Given the description of an element on the screen output the (x, y) to click on. 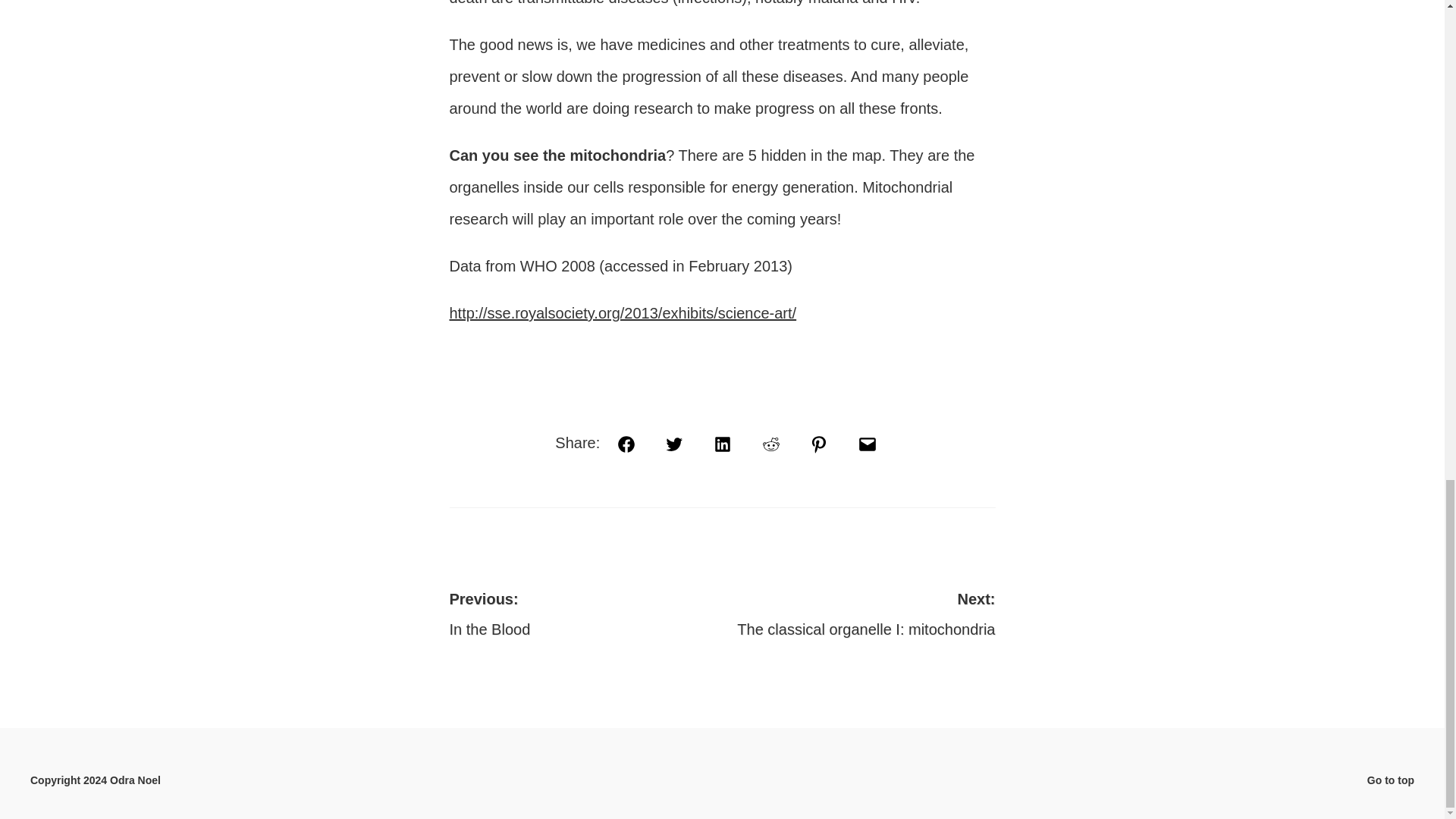
Pinterest (818, 443)
Go to top (1390, 779)
Twitter (673, 443)
Facebook (625, 443)
Royal Society Science exhibition 2013 (858, 611)
Email (622, 312)
LinkedIn (867, 443)
Reddit (721, 443)
